Given the description of an element on the screen output the (x, y) to click on. 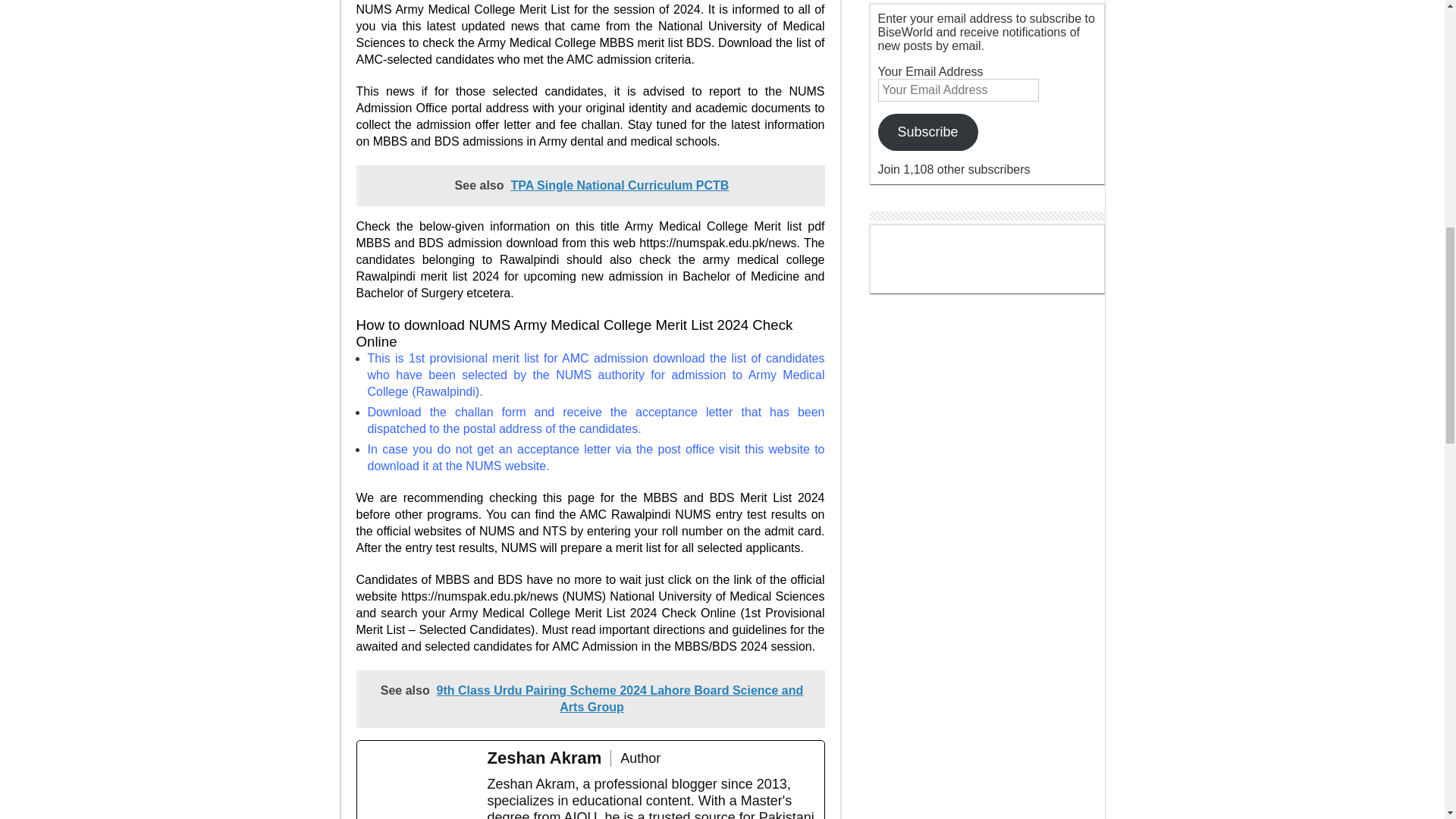
See also  TPA Single National Curriculum PCTB (590, 185)
